Given the description of an element on the screen output the (x, y) to click on. 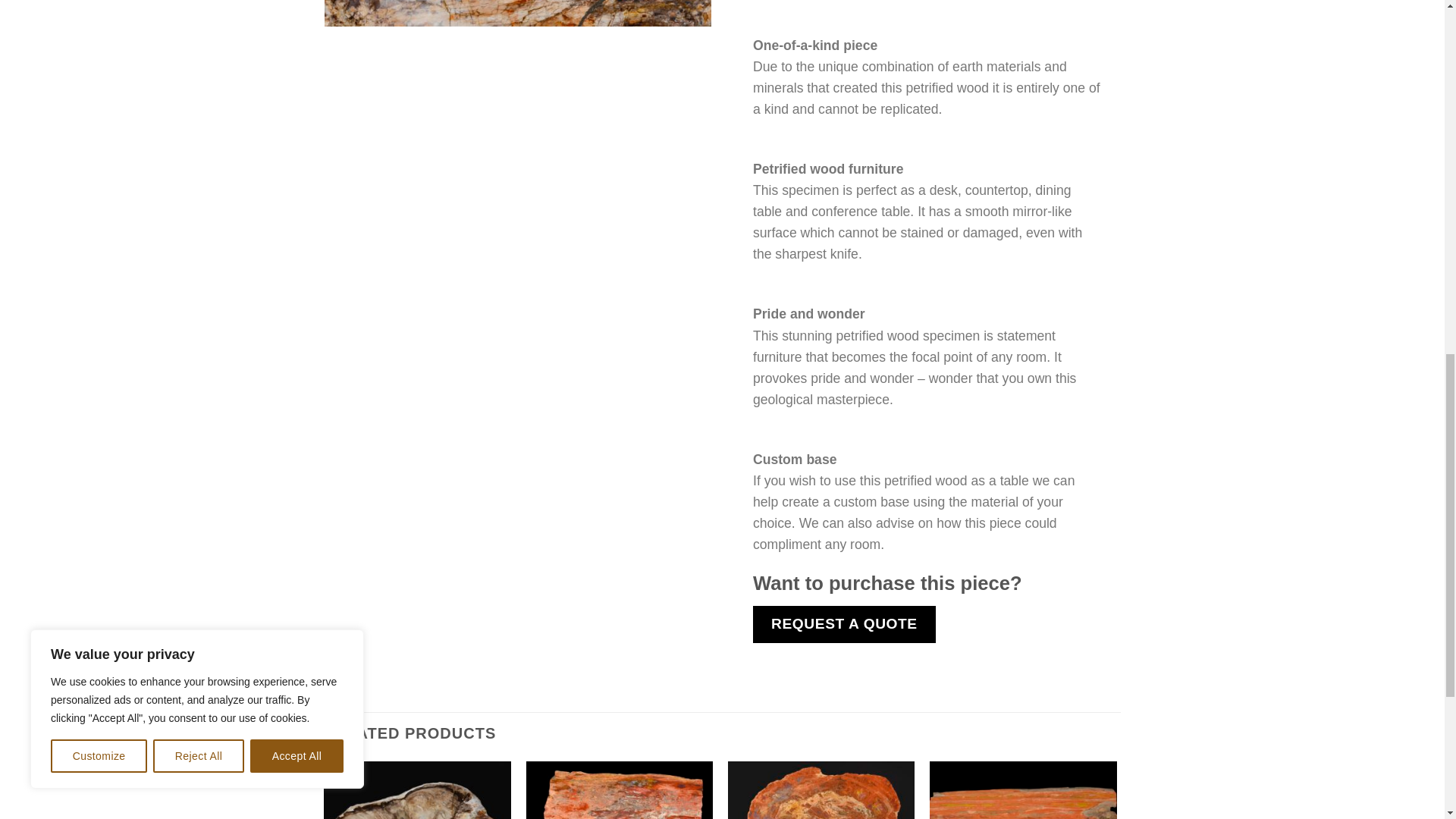
REQUEST A QUOTE (844, 624)
